Given the description of an element on the screen output the (x, y) to click on. 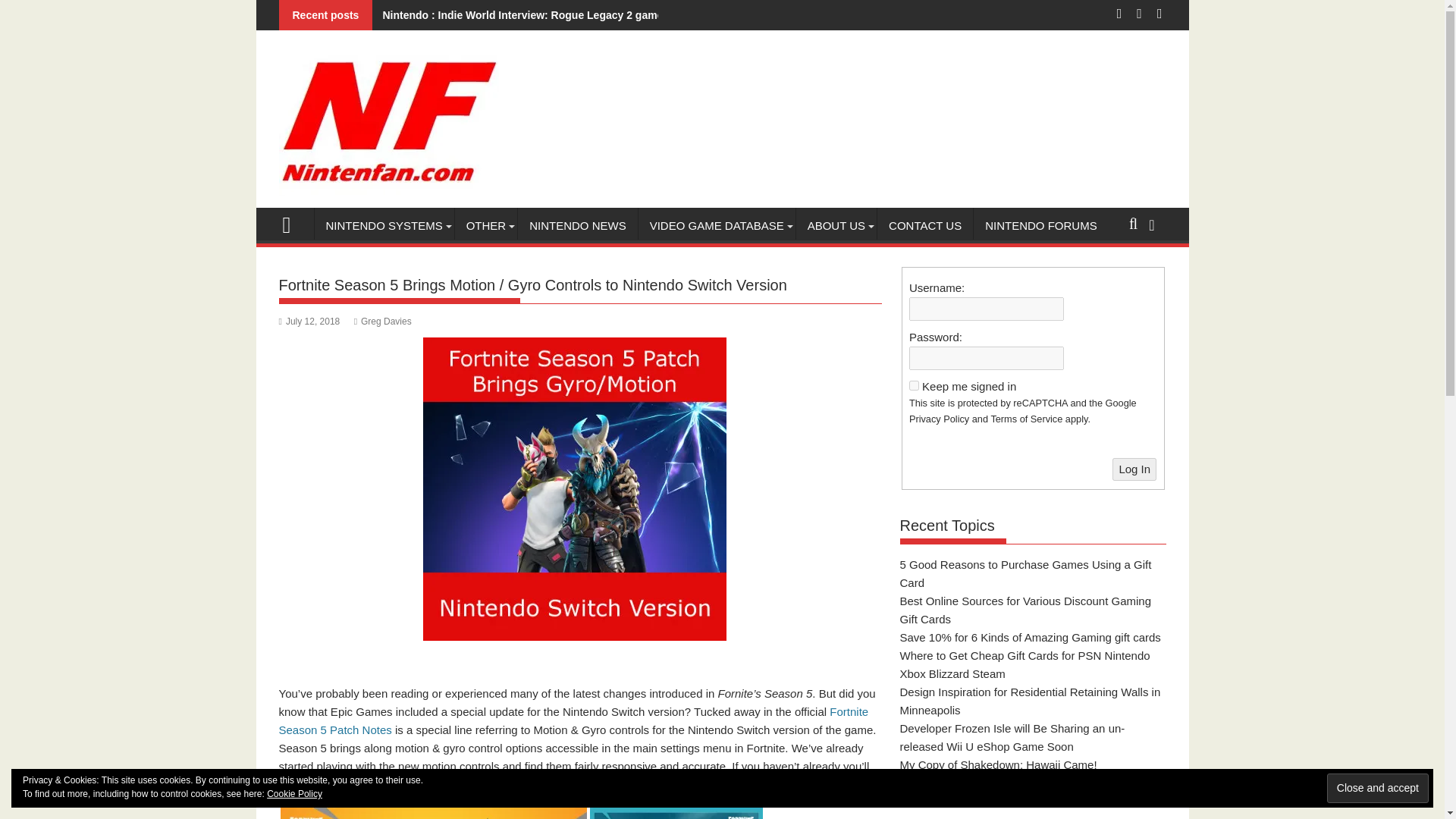
Fortnite Season 5, Newly Updated Map With Locations Marked (675, 813)
New All Terrain Vechile in Fortnite after Season 5 Release (433, 813)
VIDEO GAME DATABASE (716, 226)
forever (913, 385)
Close and accept (1377, 788)
OTHER (486, 226)
NINTENDO SYSTEMS (383, 226)
Nintenfan (293, 222)
NINTENDO NEWS (577, 226)
